Given the description of an element on the screen output the (x, y) to click on. 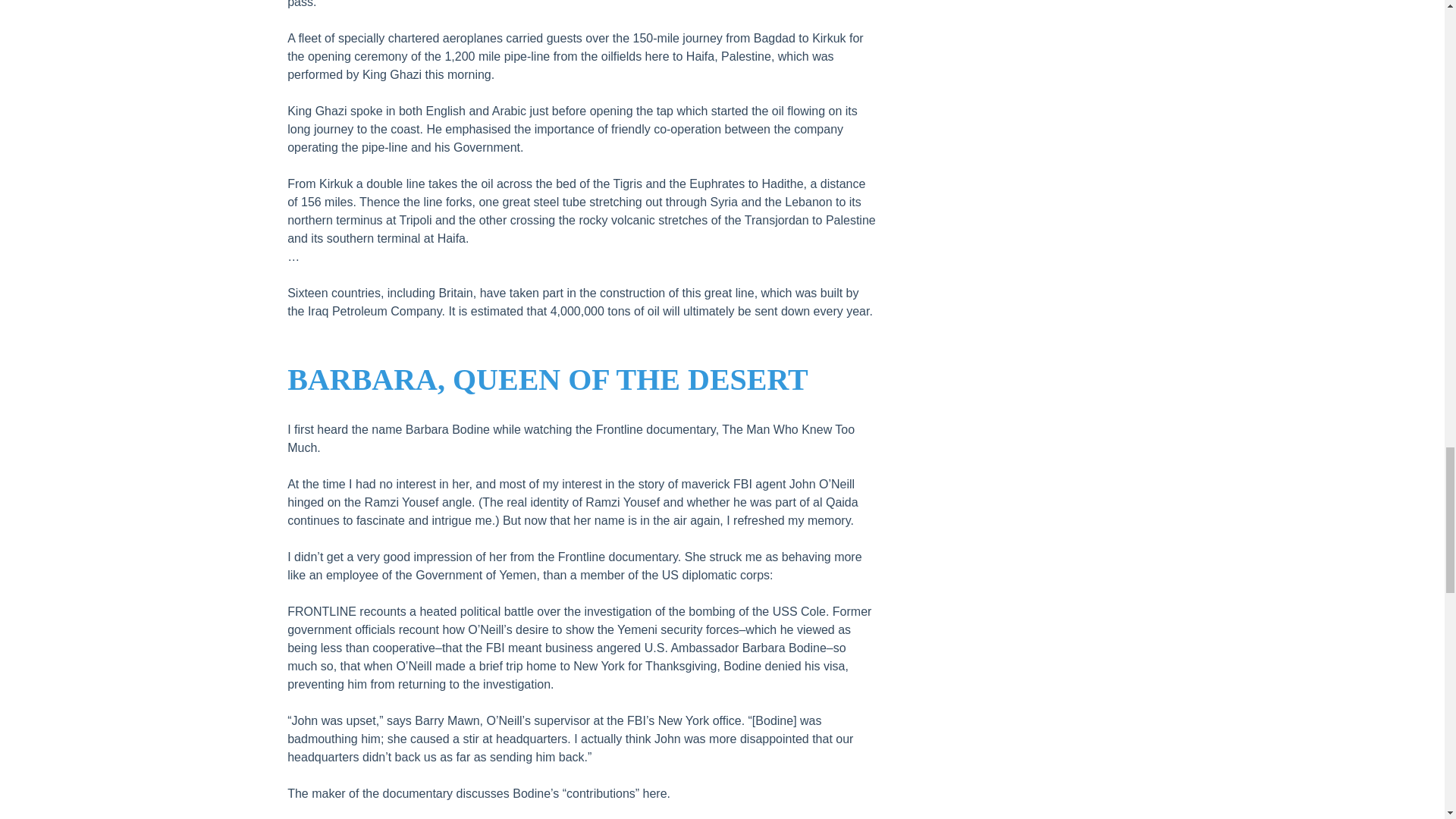
BARBARA, QUEEN OF THE DESERT (547, 379)
